Given the description of an element on the screen output the (x, y) to click on. 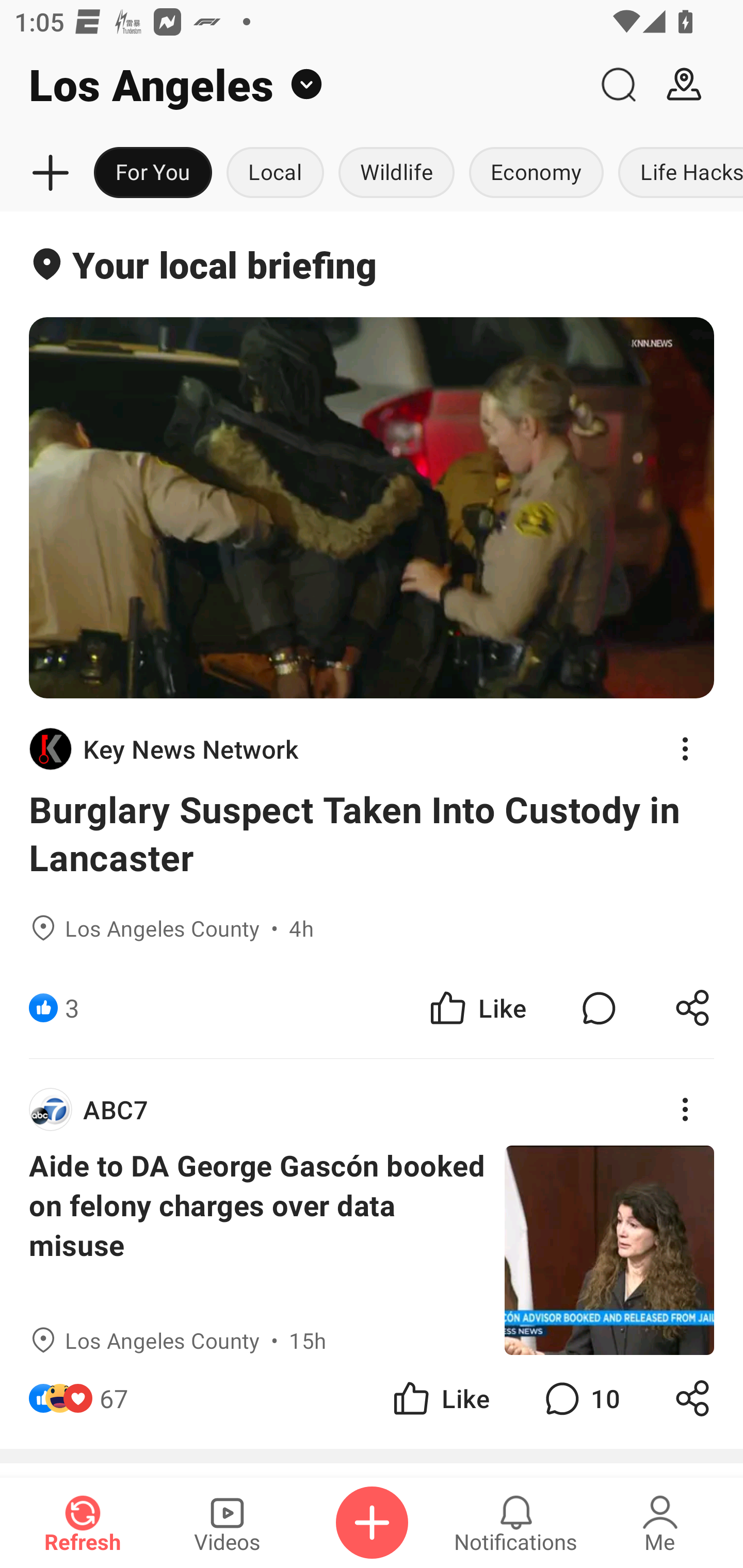
Los Angeles (292, 84)
For You (152, 172)
Local (275, 172)
Wildlife (396, 172)
Economy (536, 172)
Life Hacks (676, 172)
3 (72, 1007)
Like (476, 1007)
67 (113, 1397)
Like (439, 1397)
10 (579, 1397)
Videos (227, 1522)
Notifications (516, 1522)
Me (659, 1522)
